Given the description of an element on the screen output the (x, y) to click on. 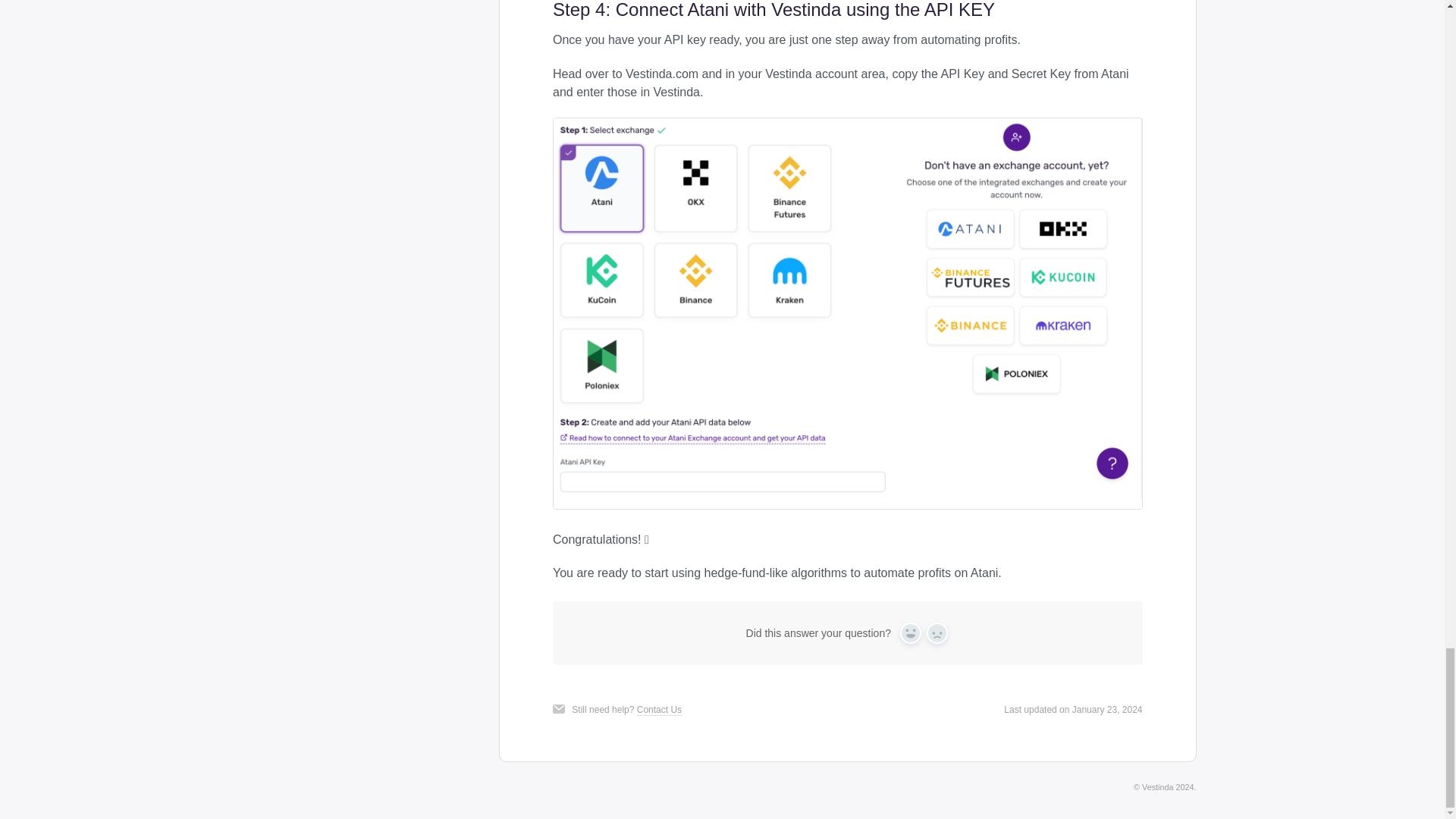
Contact Us (659, 709)
No (936, 632)
Vestinda (1157, 786)
Yes (910, 632)
